Given the description of an element on the screen output the (x, y) to click on. 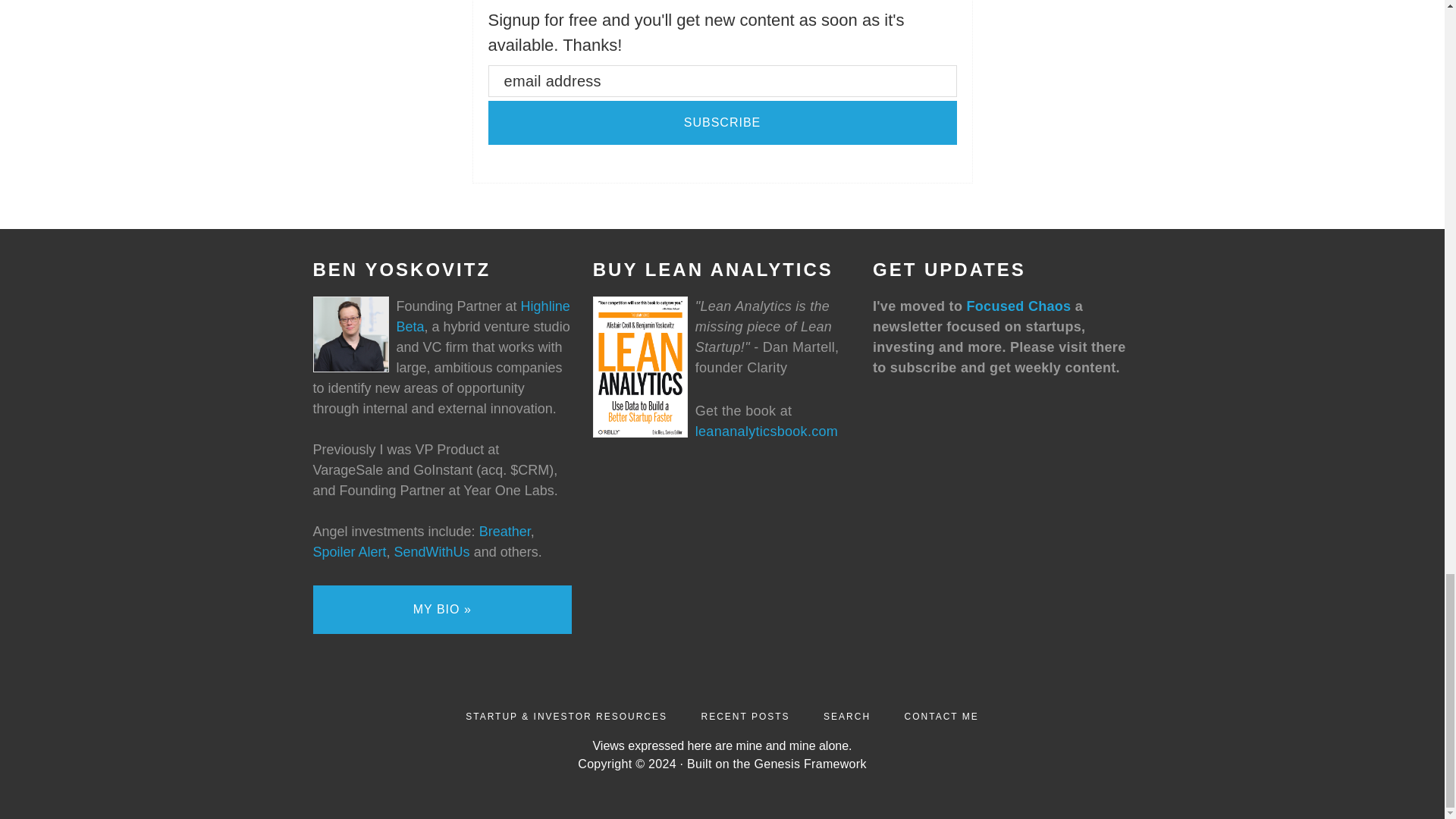
CONTACT ME (941, 716)
Spoiler Alert (349, 551)
Highline Beta (482, 316)
Subscribe (721, 122)
SendWithUs (432, 551)
SEARCH (847, 716)
Genesis Framework (810, 763)
Subscribe (721, 122)
RECENT POSTS (744, 716)
leananalyticsbook.com (766, 431)
